Given the description of an element on the screen output the (x, y) to click on. 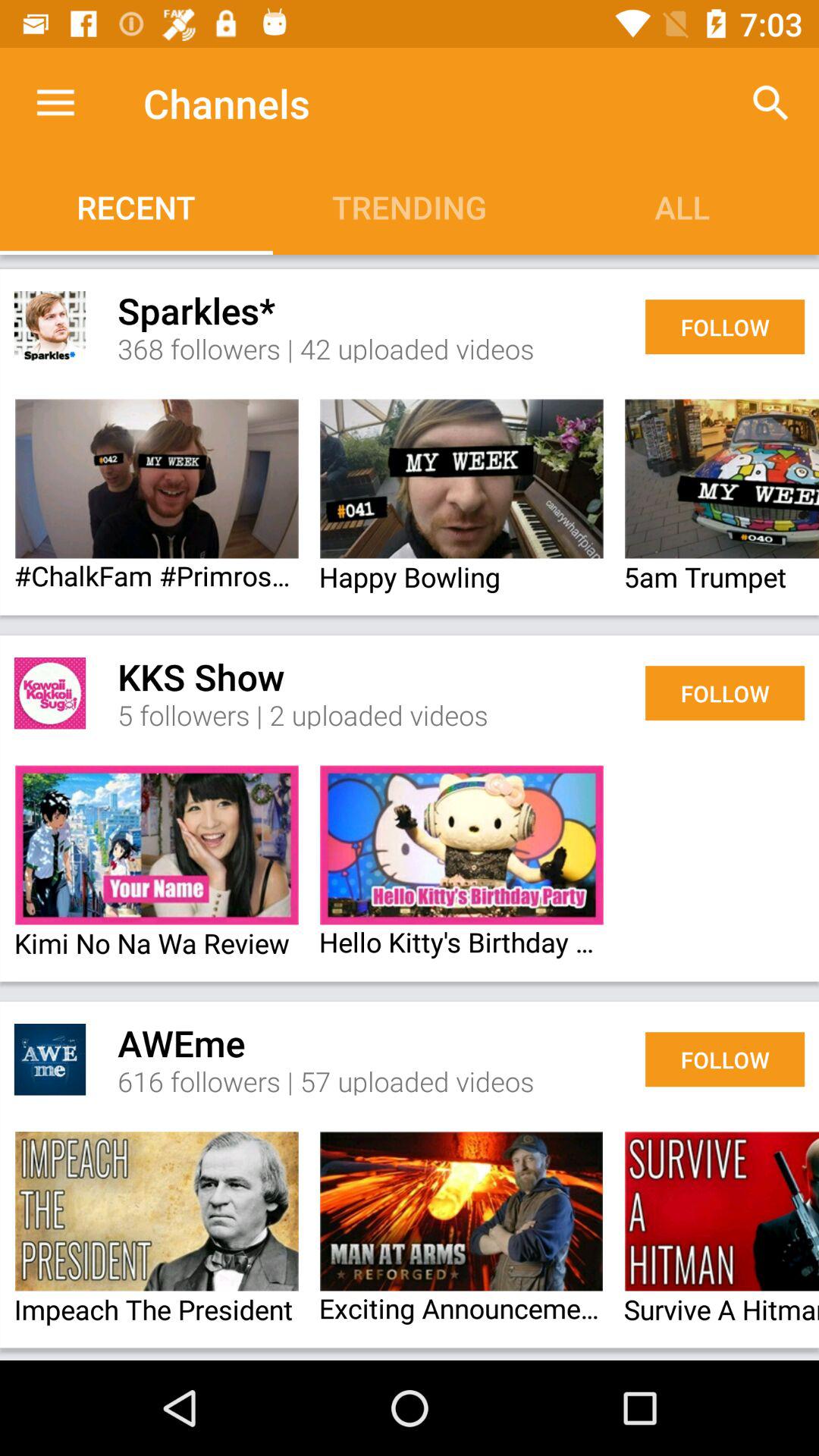
select the item next to channels item (55, 103)
